Given the description of an element on the screen output the (x, y) to click on. 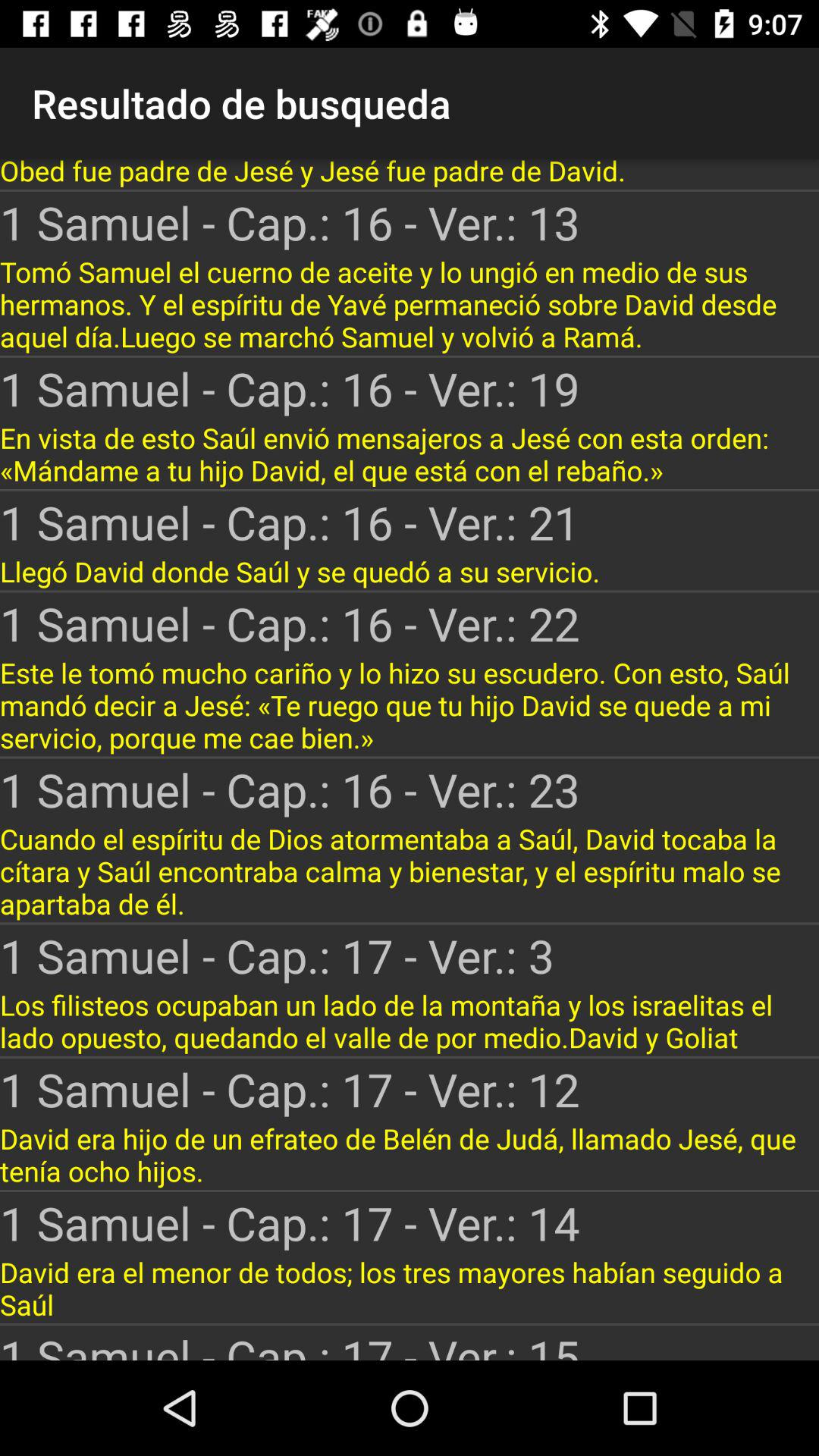
launch obed fue padre (409, 174)
